Given the description of an element on the screen output the (x, y) to click on. 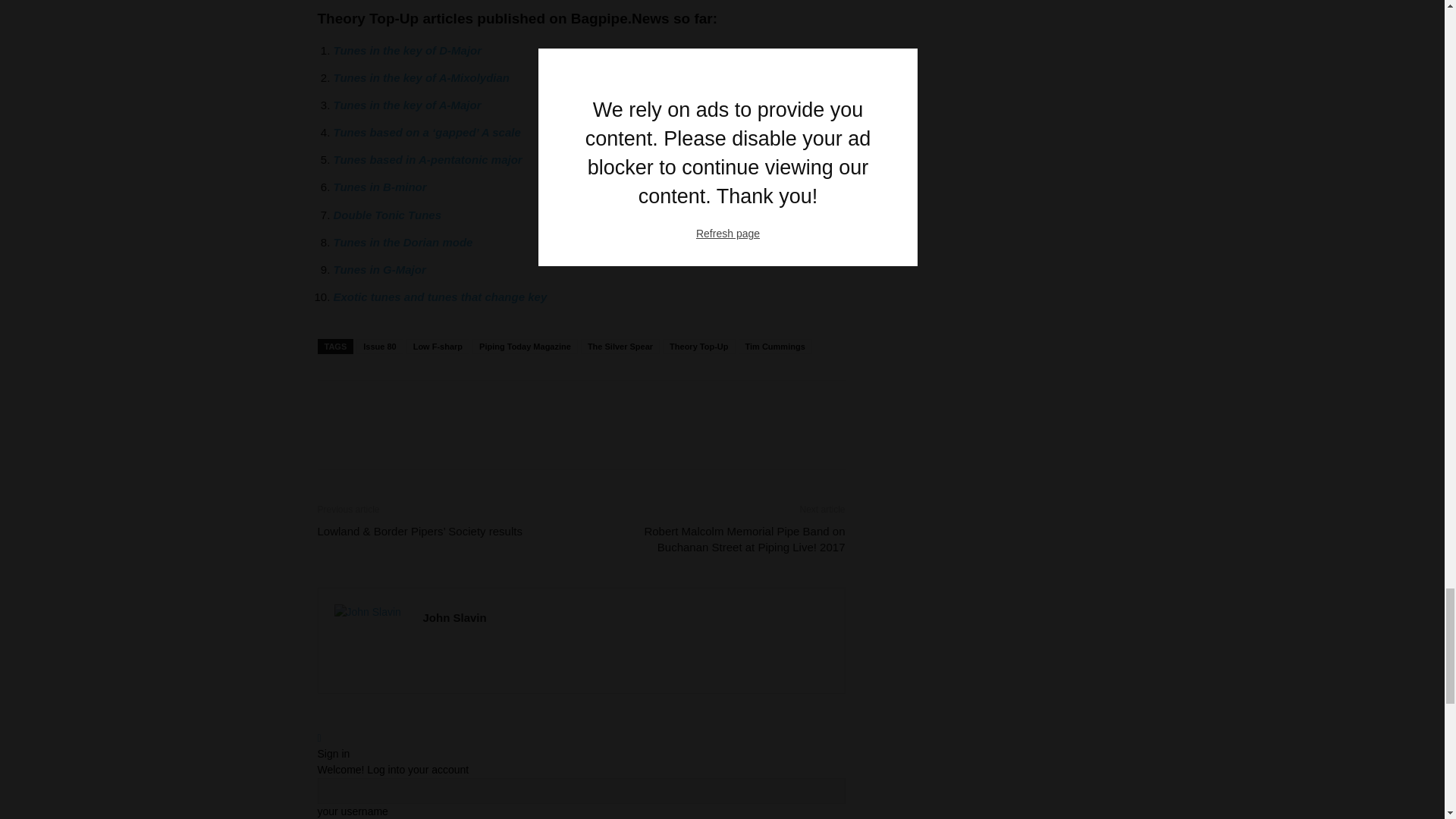
Tunes in the key of A-Major (407, 104)
Tunes in the key of A-Mixolydian (422, 77)
Tunes in G-Major (379, 269)
Tunes in the key of D-Major (407, 50)
Issue 80 (379, 346)
Double Tonic Tunes (387, 214)
bottomFacebookLike (430, 404)
Low F-sharp (437, 346)
Tunes based in A-pentatonic major (427, 159)
Tunes in the Dorian mode (403, 241)
Tunes in B-minor (379, 186)
Exotic tunes and tunes that change key (440, 296)
